Given the description of an element on the screen output the (x, y) to click on. 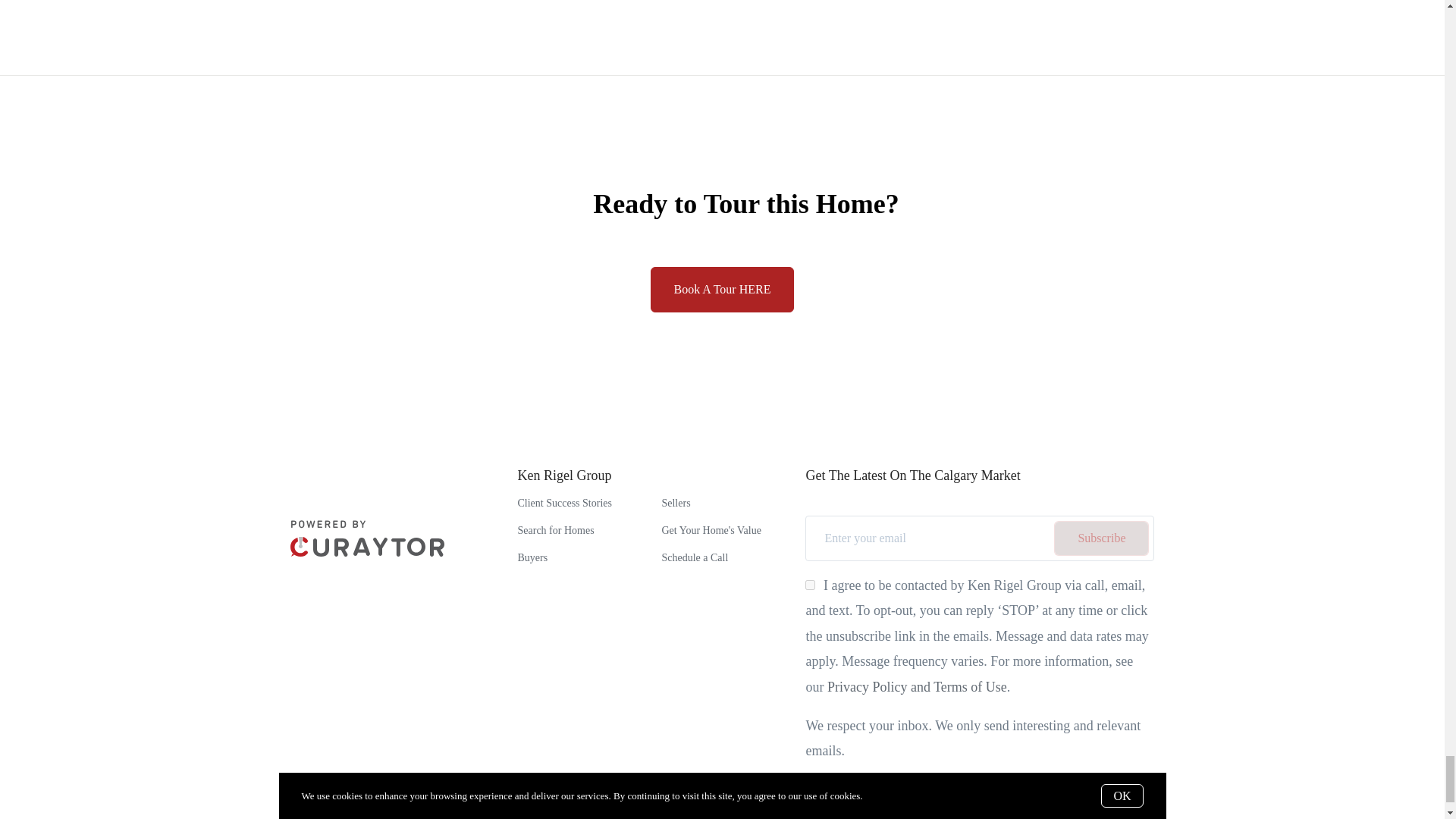
on (810, 584)
Book A Tour HERE (722, 289)
curaytor-horizontal (366, 538)
